Given the description of an element on the screen output the (x, y) to click on. 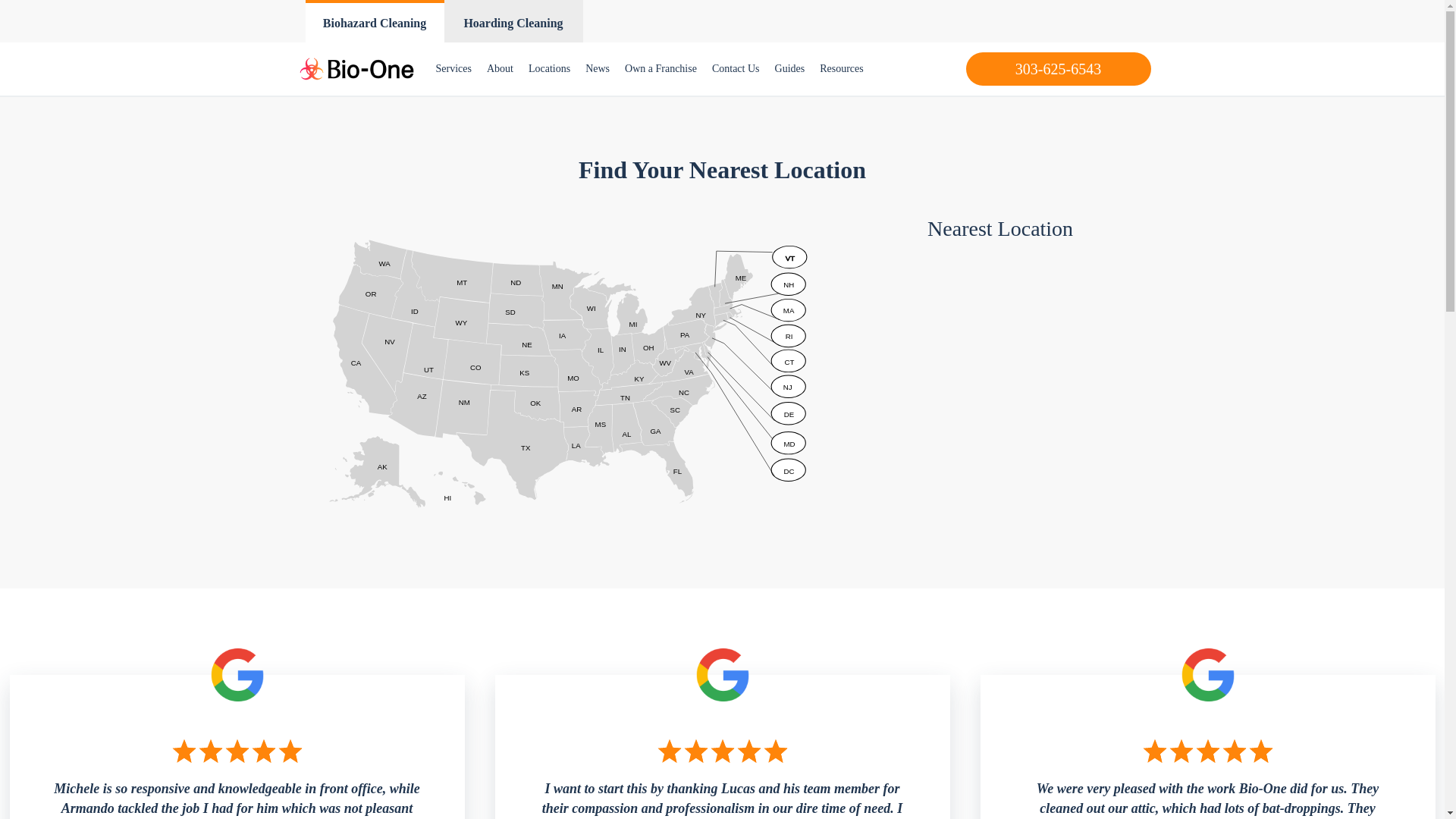
Services (453, 68)
Biohazard Cleaning (374, 21)
Locations (549, 68)
Hoarding Cleaning (513, 21)
Contact Us (735, 68)
Resources (841, 68)
303-625-6543 (1058, 68)
Own a Franchise (660, 68)
Guides (789, 68)
